Given the description of an element on the screen output the (x, y) to click on. 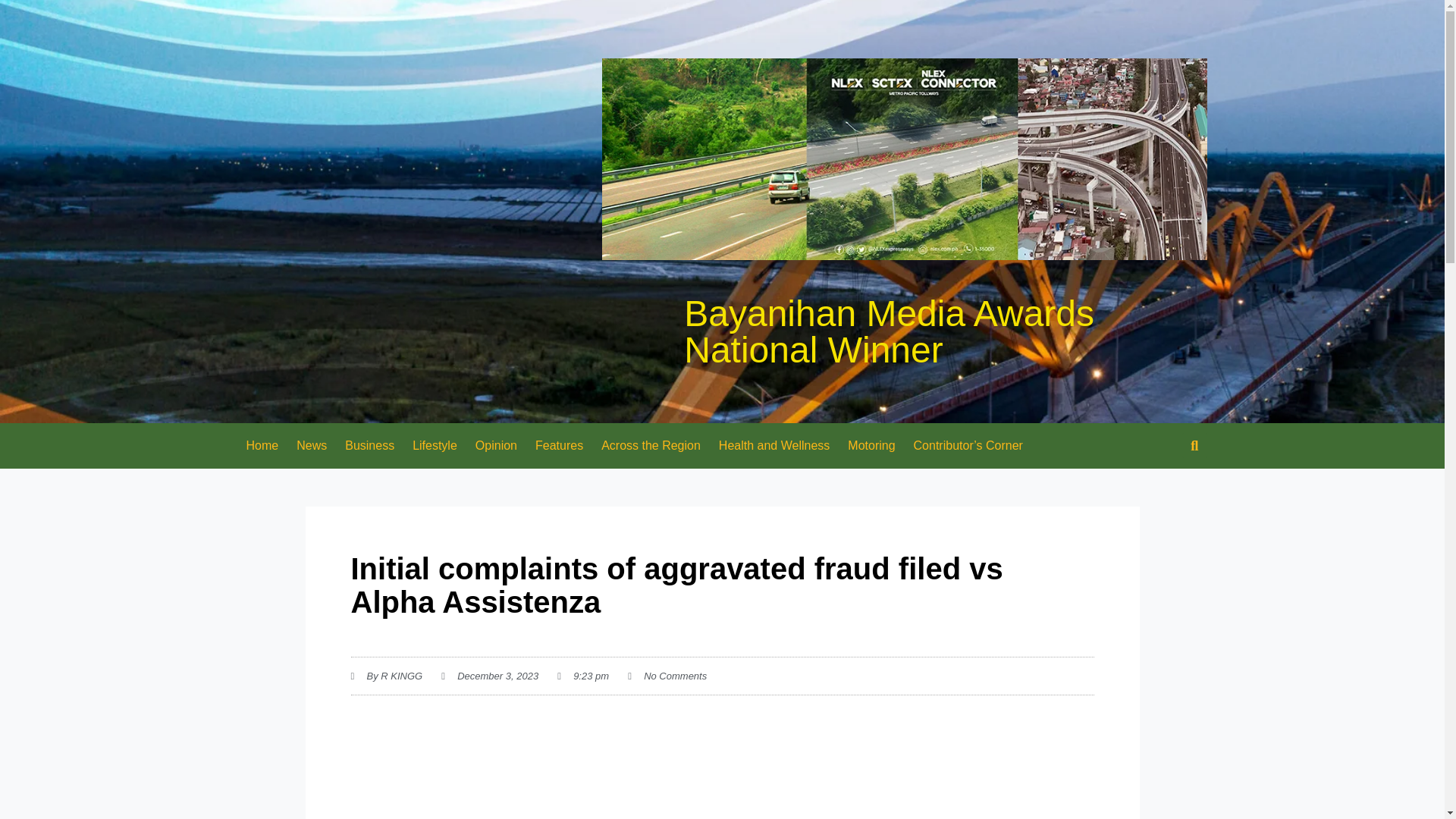
December 3, 2023 (489, 676)
Across the Region (651, 445)
Lifestyle (434, 445)
News (311, 445)
Motoring (871, 445)
Features (558, 445)
Home (260, 445)
Business (369, 445)
By R KINGG (386, 676)
Health and Wellness (774, 445)
